Given the description of an element on the screen output the (x, y) to click on. 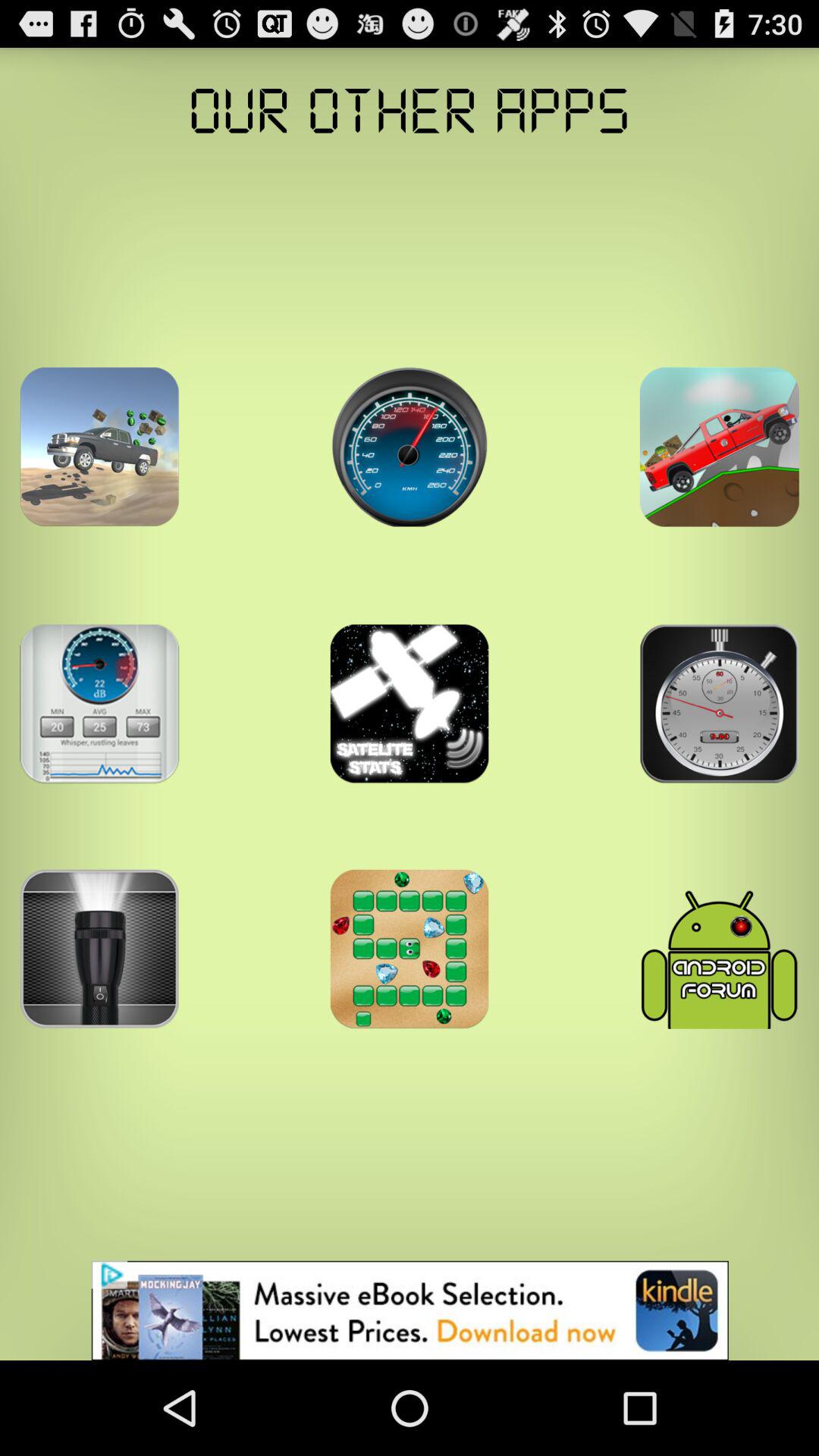
go to buy ebook (409, 1310)
